Given the description of an element on the screen output the (x, y) to click on. 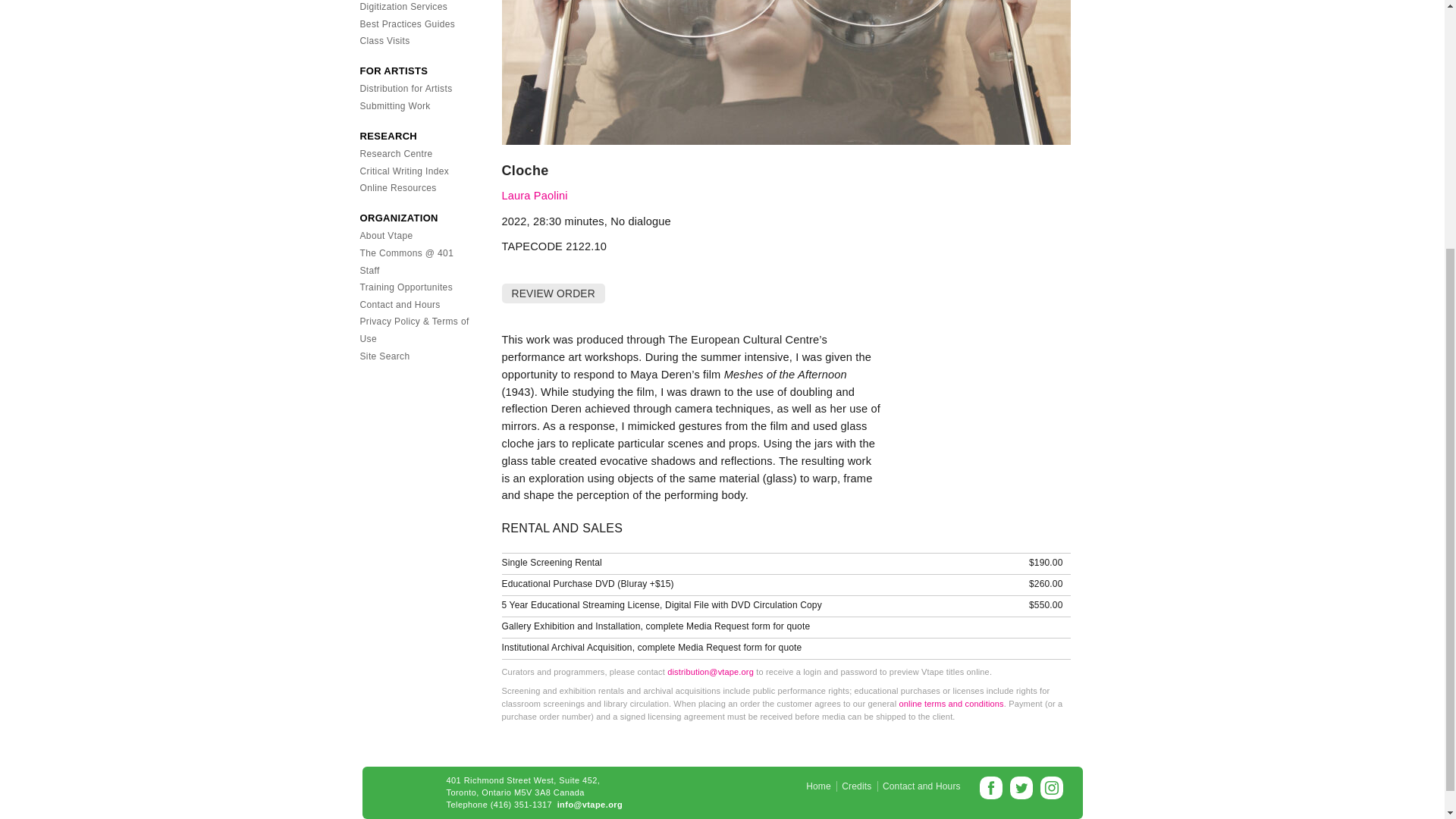
REVIEW ORDER (553, 293)
View requested items (552, 293)
Laura Paolini (534, 195)
Critical Writing Index Search (403, 171)
online terms and conditions (950, 703)
